Given the description of an element on the screen output the (x, y) to click on. 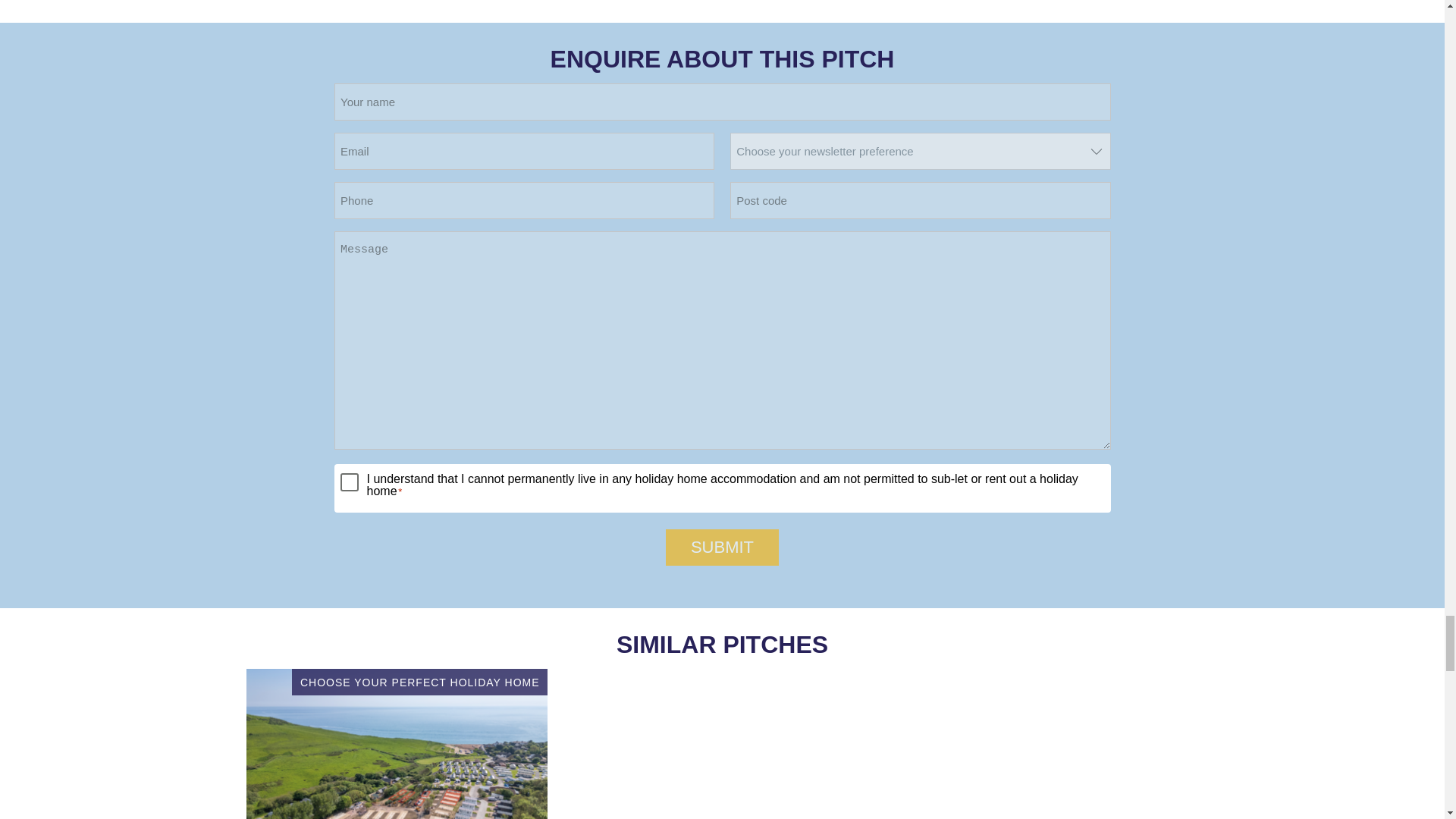
Submit (721, 547)
Submit (721, 547)
